Given the description of an element on the screen output the (x, y) to click on. 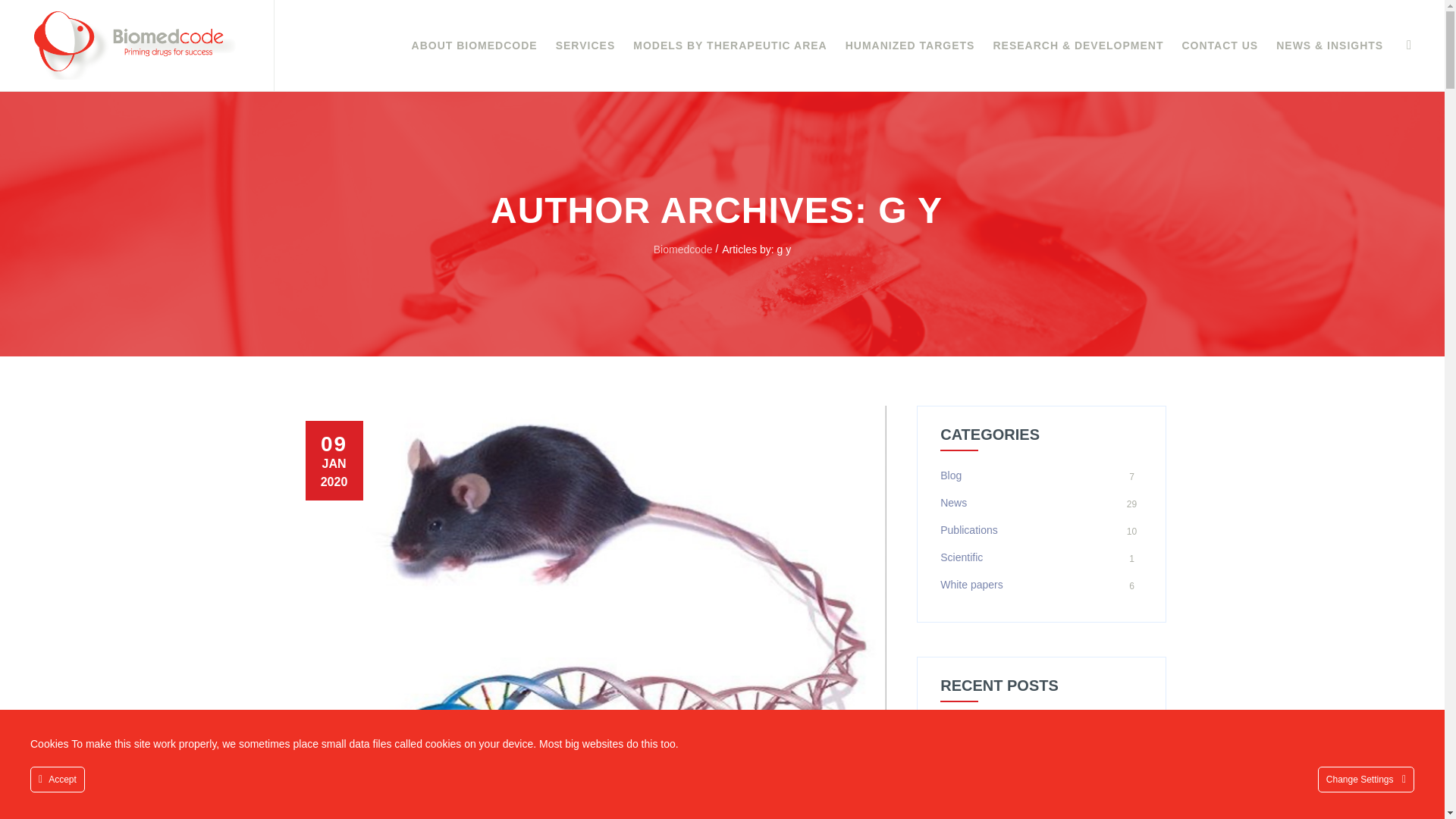
MODELS BY THERAPEUTIC AREA (730, 45)
HUMANIZED TARGETS (910, 45)
CONTACT US (1218, 45)
SERVICES (585, 45)
Biomedcode (134, 45)
ABOUT BIOMEDCODE (474, 45)
Go to Biomedcode. (683, 249)
